Given the description of an element on the screen output the (x, y) to click on. 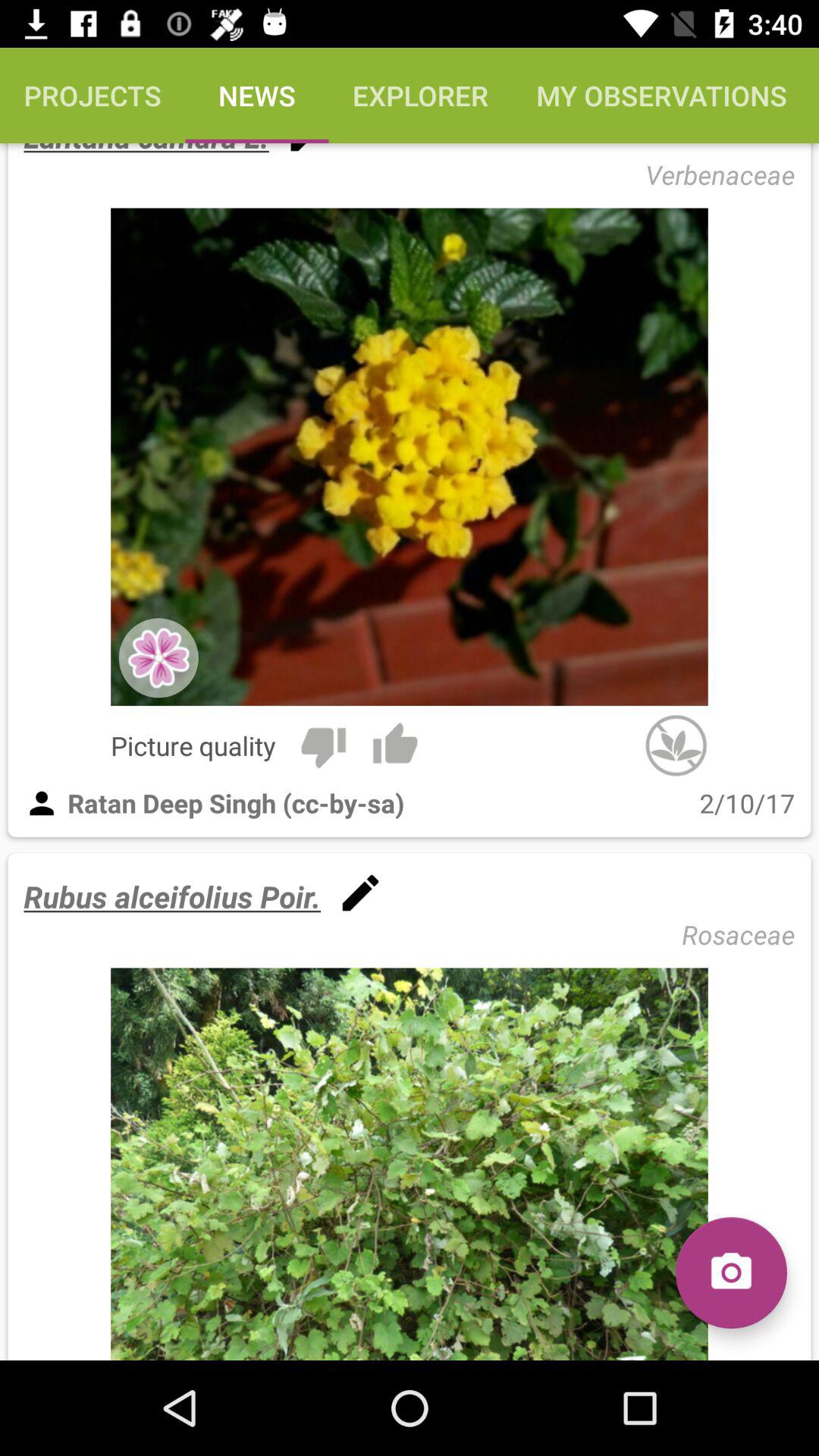
launch item above the ratan deep singh item (323, 745)
